Given the description of an element on the screen output the (x, y) to click on. 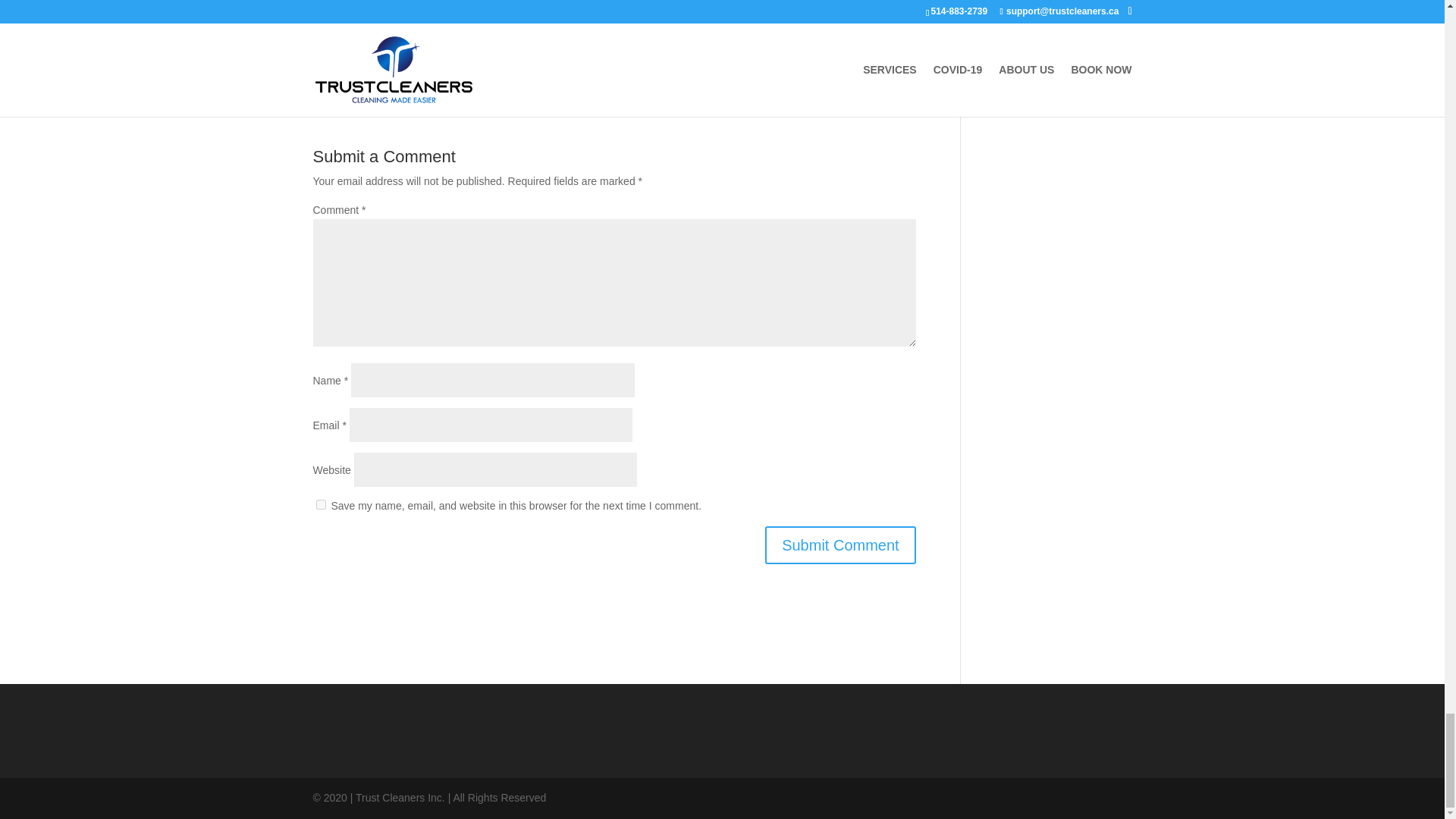
Submit Comment (840, 545)
yes (319, 504)
Submit Comment (840, 545)
